Given the description of an element on the screen output the (x, y) to click on. 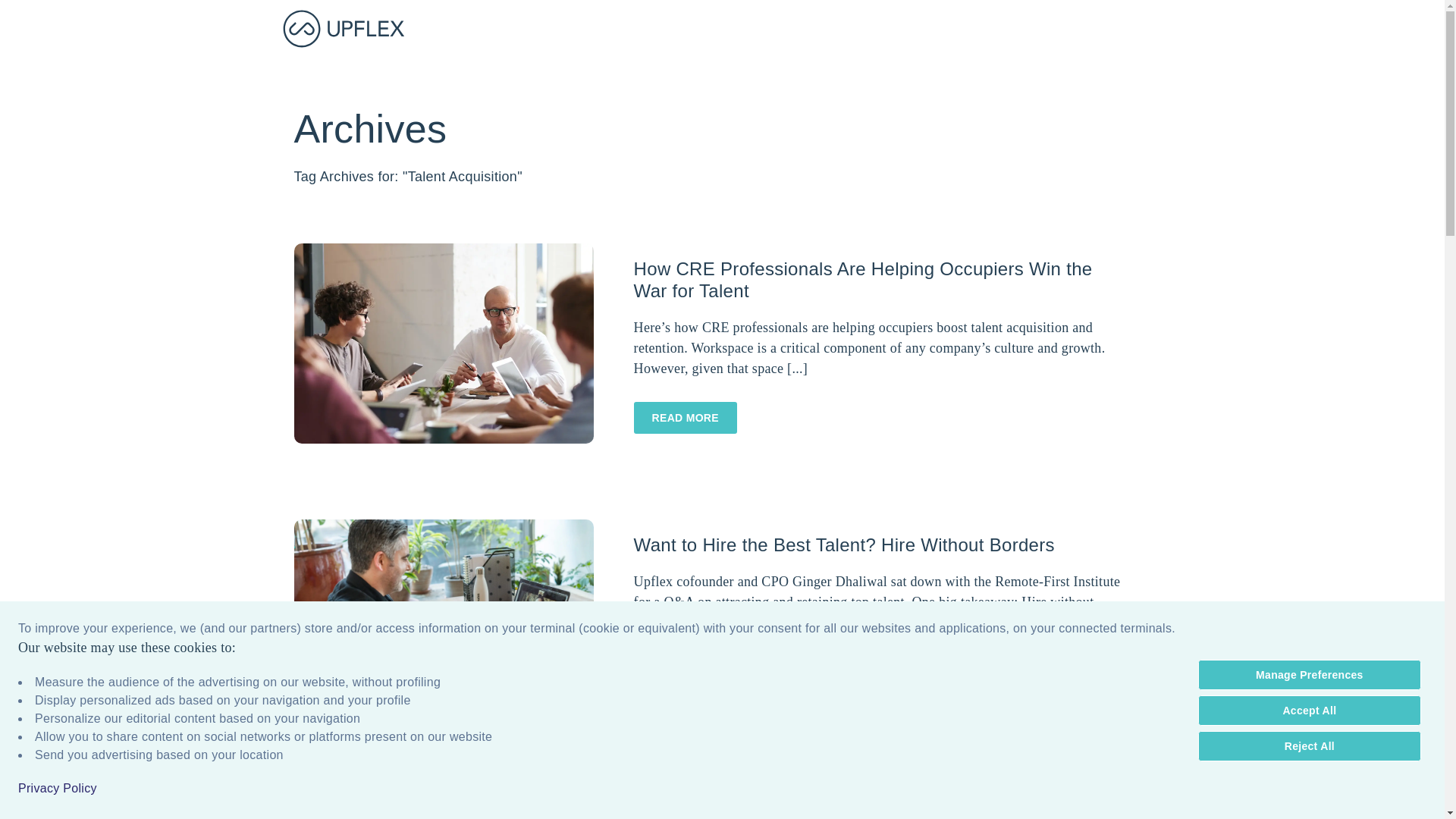
READ MORE (684, 418)
Privacy Policy (57, 788)
READ MORE (684, 671)
READ MORE (684, 418)
Workspaces when and where your team needs them. (342, 28)
Want to Hire the Best Talent? Hire Without Borders (444, 617)
Want to Hire the Best Talent? Hire Without Borders (444, 619)
Want to Hire the Best Talent? Hire Without Borders (843, 544)
Reject All (1309, 746)
Manage Preferences (1309, 675)
